Given the description of an element on the screen output the (x, y) to click on. 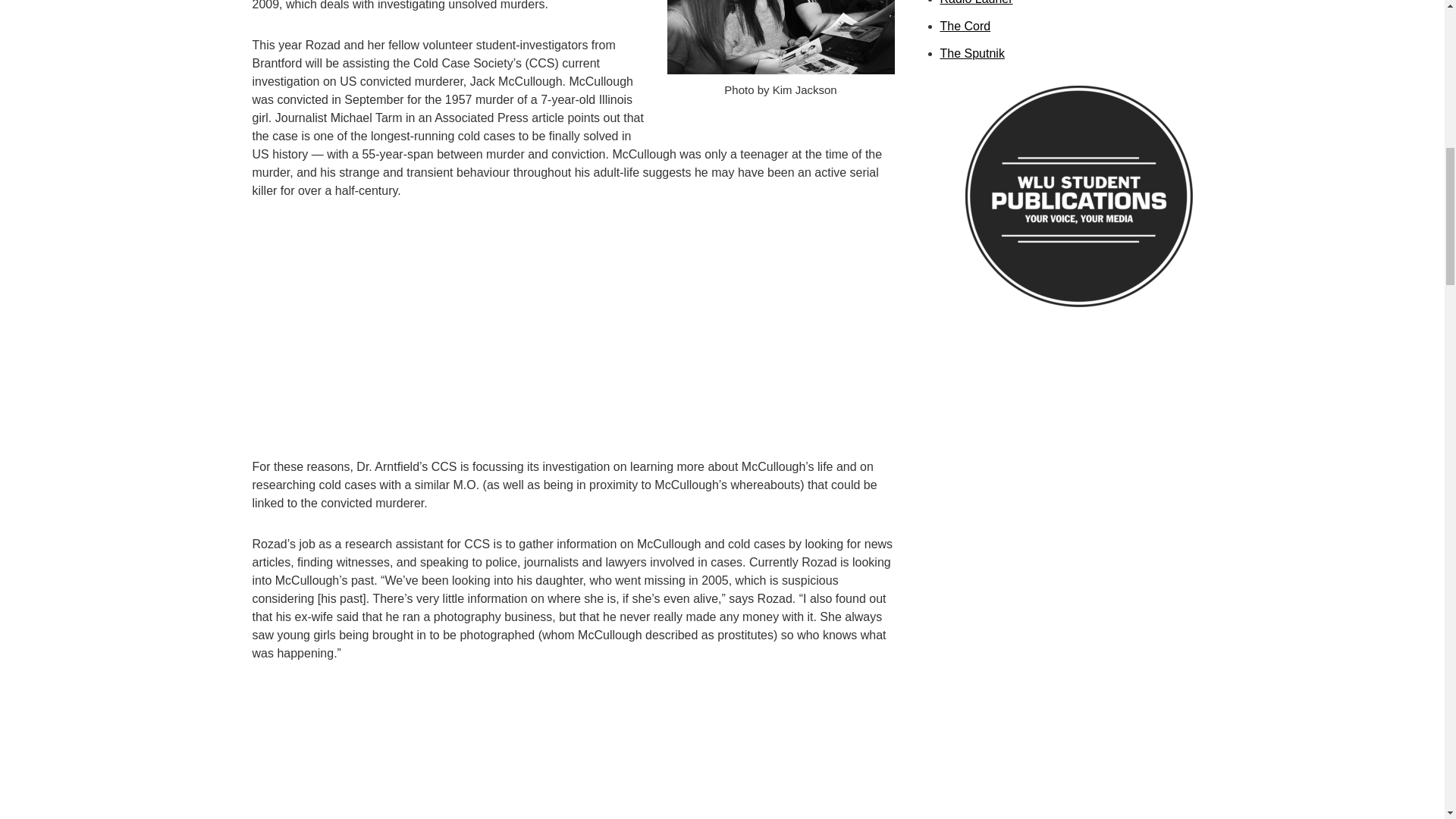
Advertisement (572, 752)
Cold Case Society (780, 37)
